Given the description of an element on the screen output the (x, y) to click on. 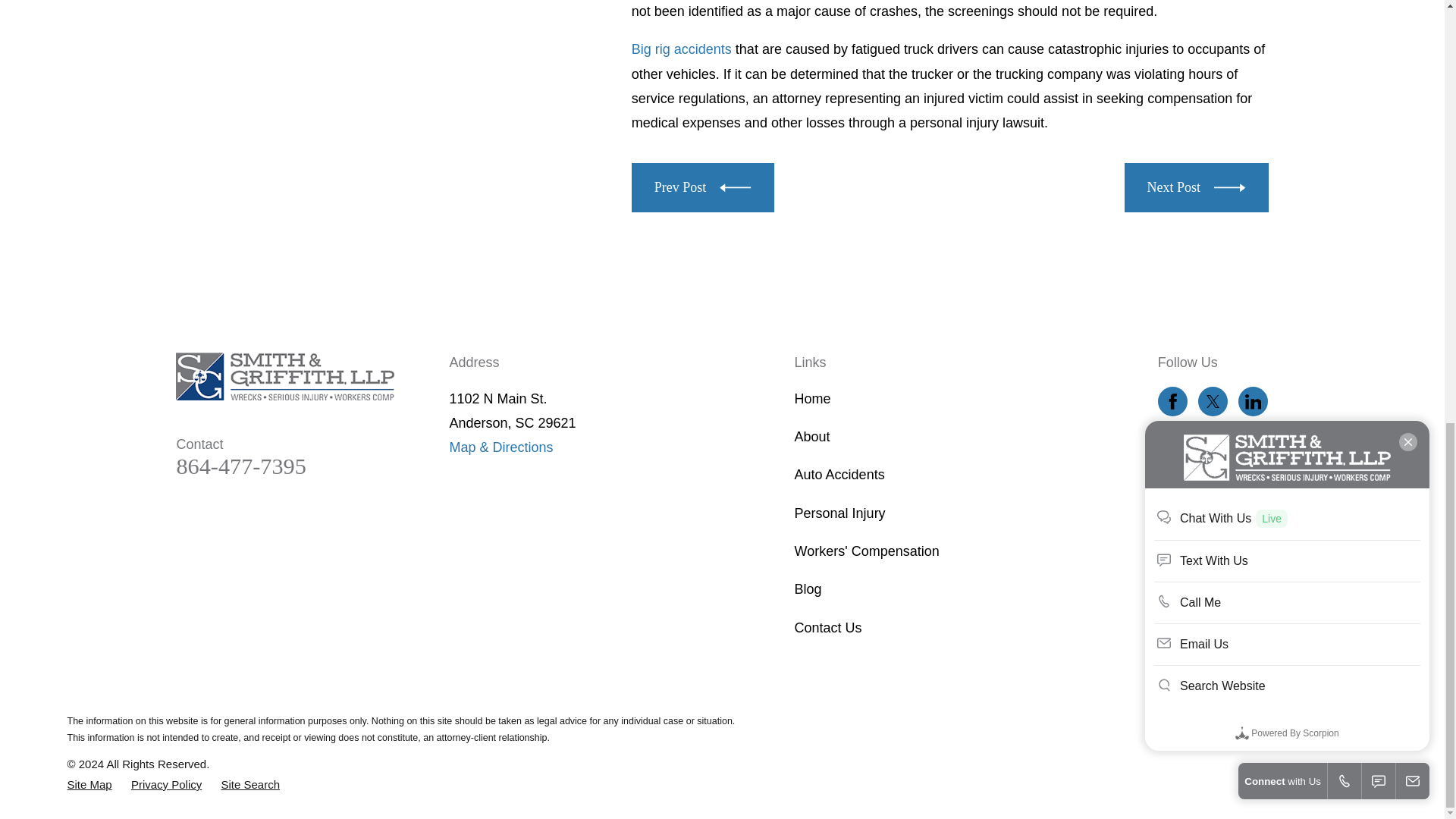
Facebook (1172, 401)
Twitter (1213, 401)
Home (285, 376)
LinkedIn (1253, 401)
